Given the description of an element on the screen output the (x, y) to click on. 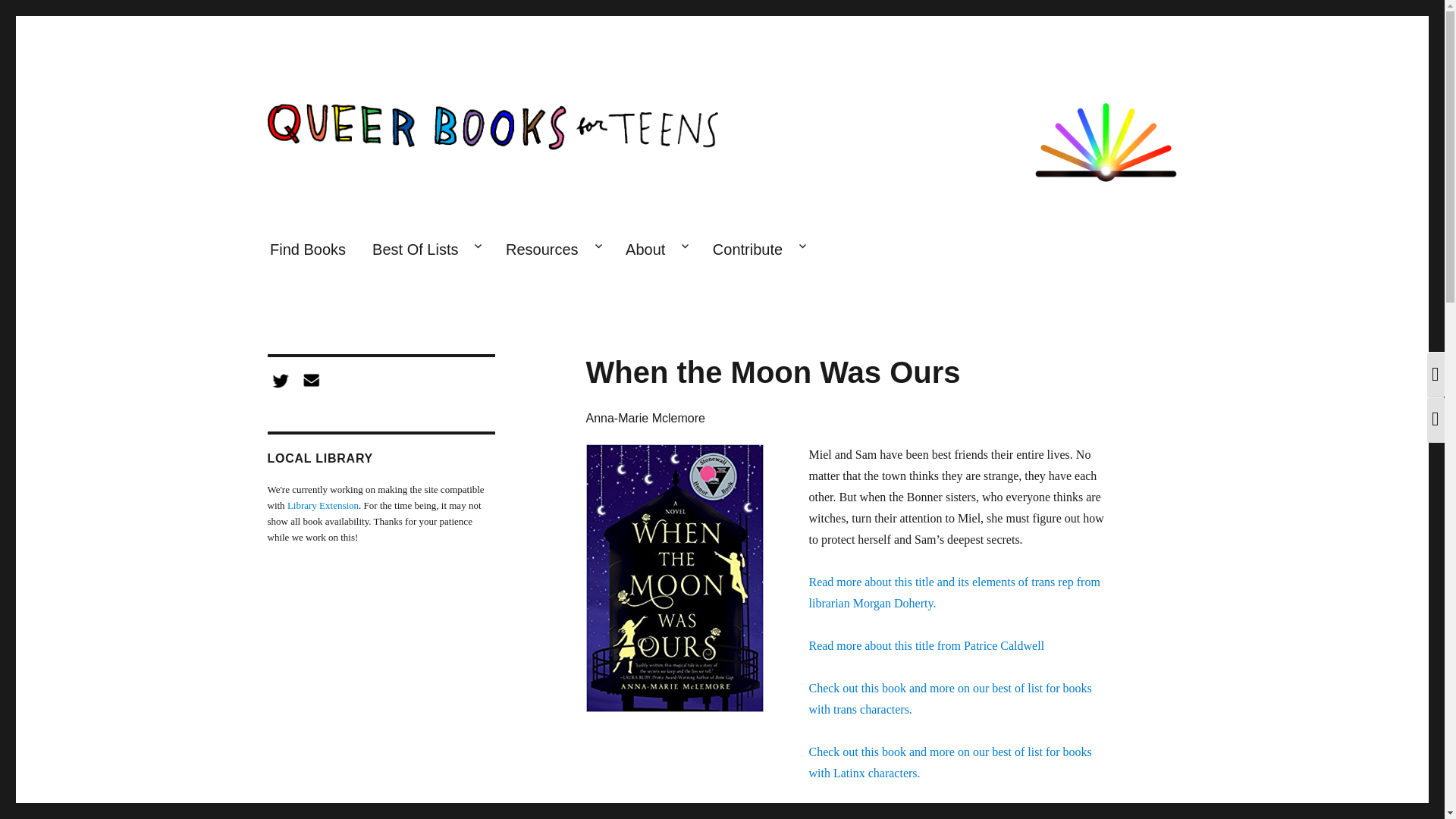
Read more about this title from Patrice Caldwell (925, 645)
Best Of Lists (426, 250)
Resources (551, 250)
Find Books (307, 250)
Contribute (757, 250)
About (656, 250)
